Given the description of an element on the screen output the (x, y) to click on. 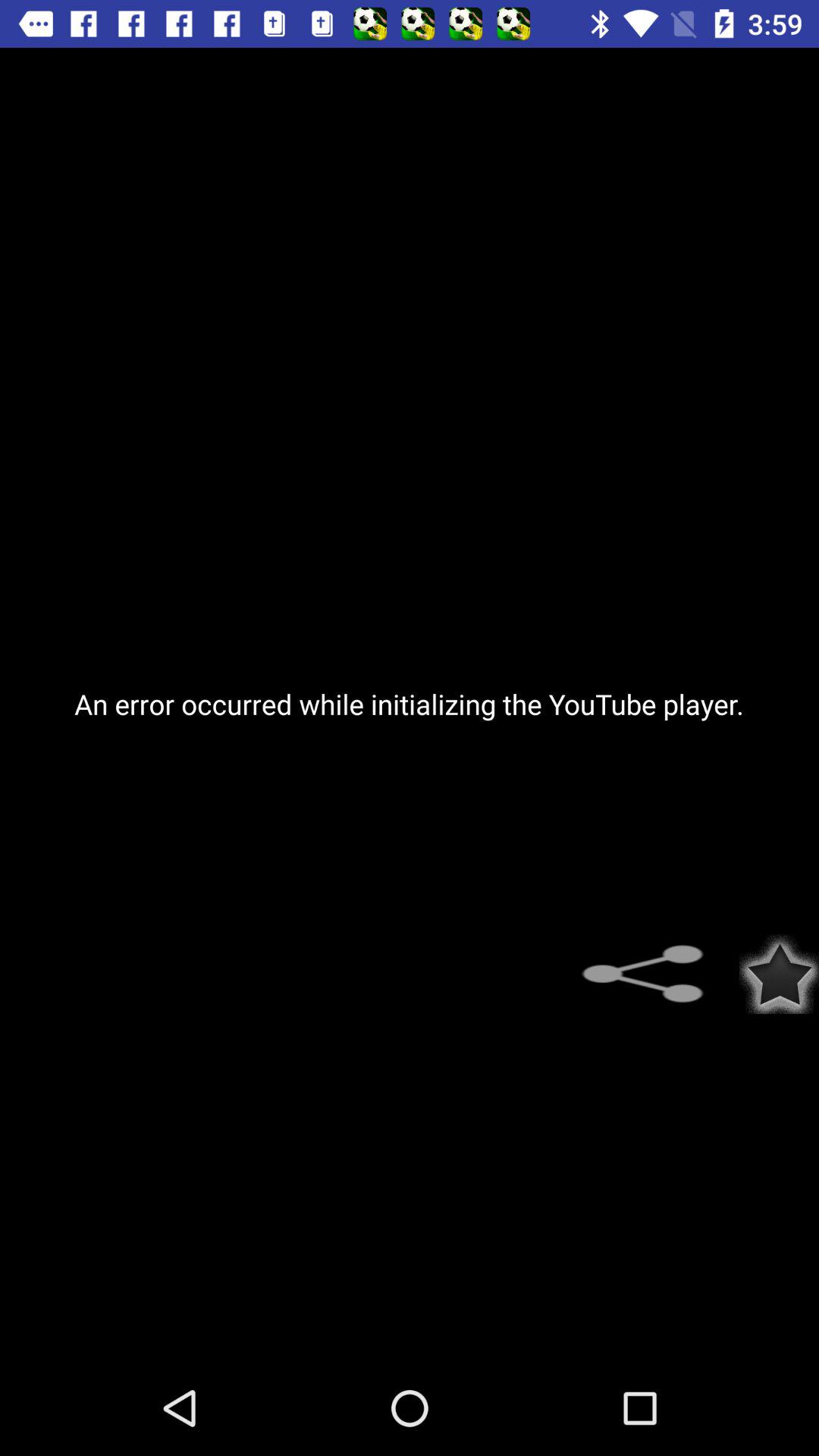
select the item below the an error occurred item (651, 974)
